Given the description of an element on the screen output the (x, y) to click on. 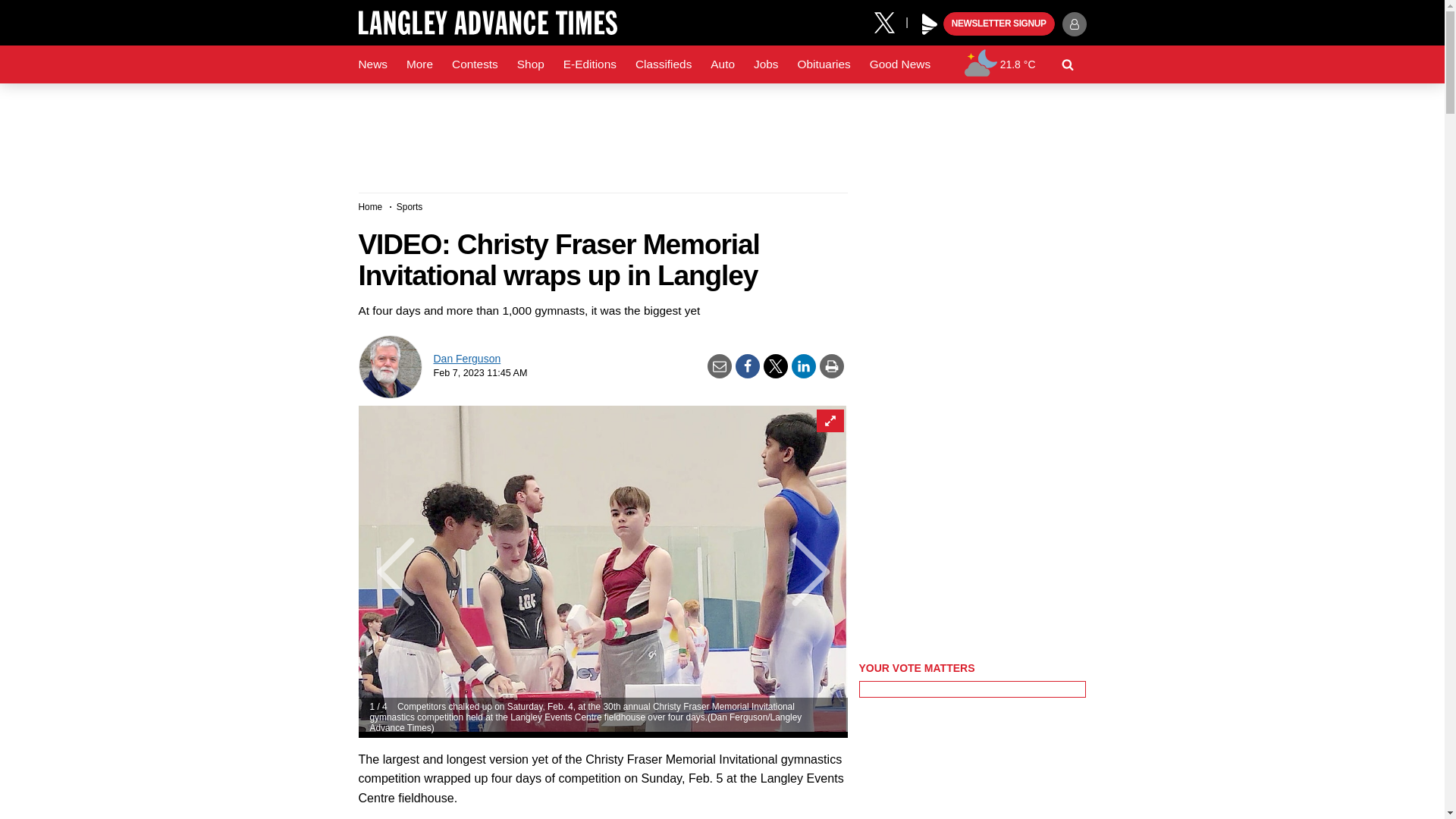
News (372, 64)
Play (929, 24)
X (889, 21)
Black Press Media (929, 24)
Previous (385, 571)
Next (819, 571)
Expand (829, 420)
3rd party ad content (721, 131)
NEWSLETTER SIGNUP (998, 24)
